Given the description of an element on the screen output the (x, y) to click on. 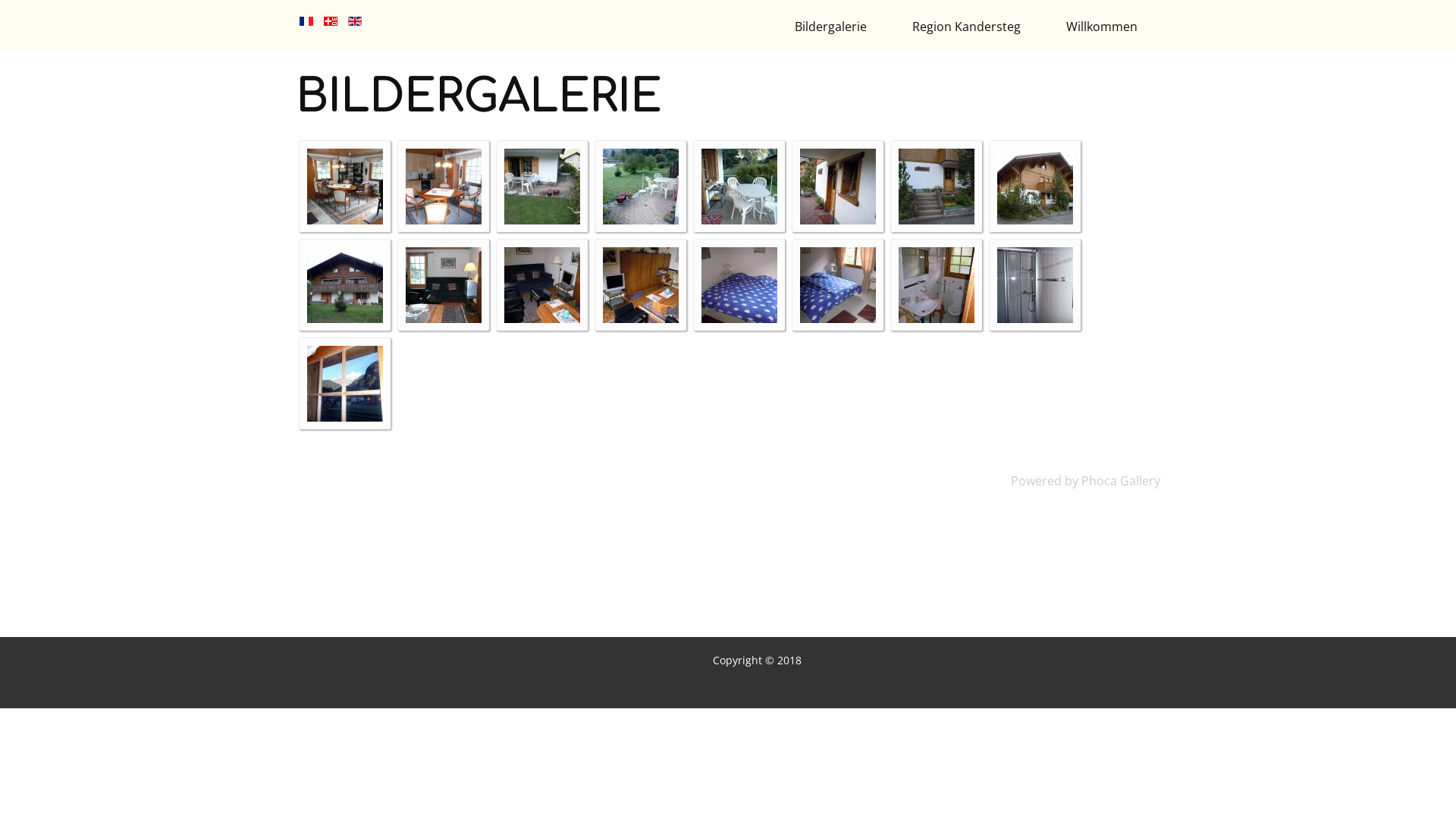
Galerie Element type: hover (936, 318)
Willkommen Element type: text (1101, 26)
Galerie Element type: hover (443, 219)
Galerie Element type: hover (344, 318)
Galerie Element type: hover (344, 219)
Galerie Element type: hover (1035, 219)
Bildergalerie Element type: text (830, 26)
Deutsch (Deutschland) Element type: hover (330, 20)
English (United Kingdom) Element type: hover (354, 20)
Galerie Element type: hover (936, 219)
Galerie Element type: hover (739, 219)
Galerie Element type: hover (837, 219)
Galerie Element type: hover (739, 318)
Galerie Element type: hover (640, 219)
Galerie Element type: hover (542, 318)
Galerie Element type: hover (542, 219)
Galerie Element type: hover (443, 318)
Phoca Gallery Element type: text (1120, 480)
Galerie Element type: hover (640, 318)
Galerie Element type: hover (344, 416)
Galerie Element type: hover (837, 318)
Galerie Element type: hover (1035, 318)
Region Kandersteg Element type: text (966, 26)
